Given the description of an element on the screen output the (x, y) to click on. 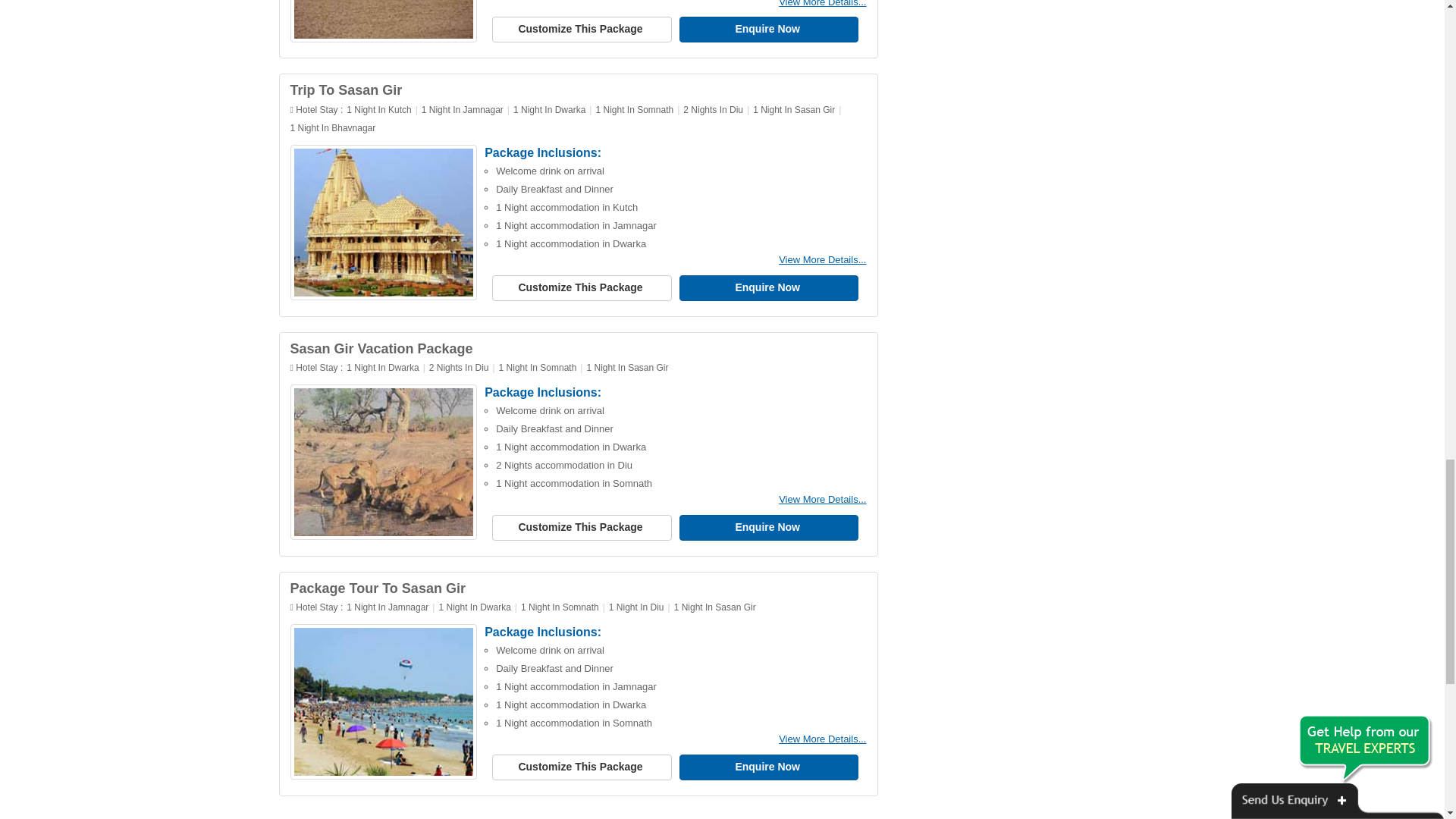
Customize This Package (581, 29)
View More Details... (822, 3)
